Given the description of an element on the screen output the (x, y) to click on. 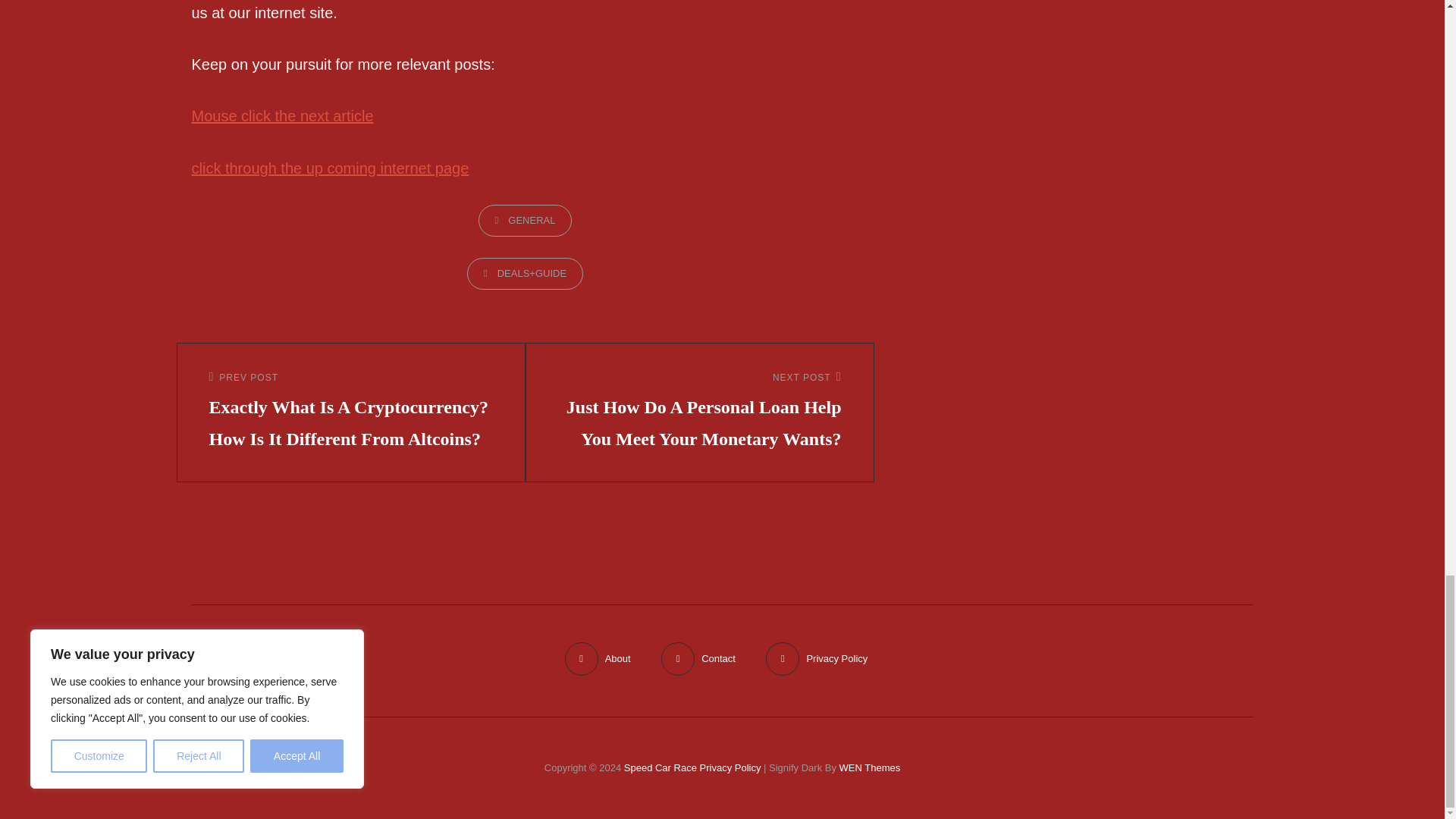
click through the up coming internet page (329, 167)
Mouse click the next article (281, 115)
GENERAL (525, 220)
